Given the description of an element on the screen output the (x, y) to click on. 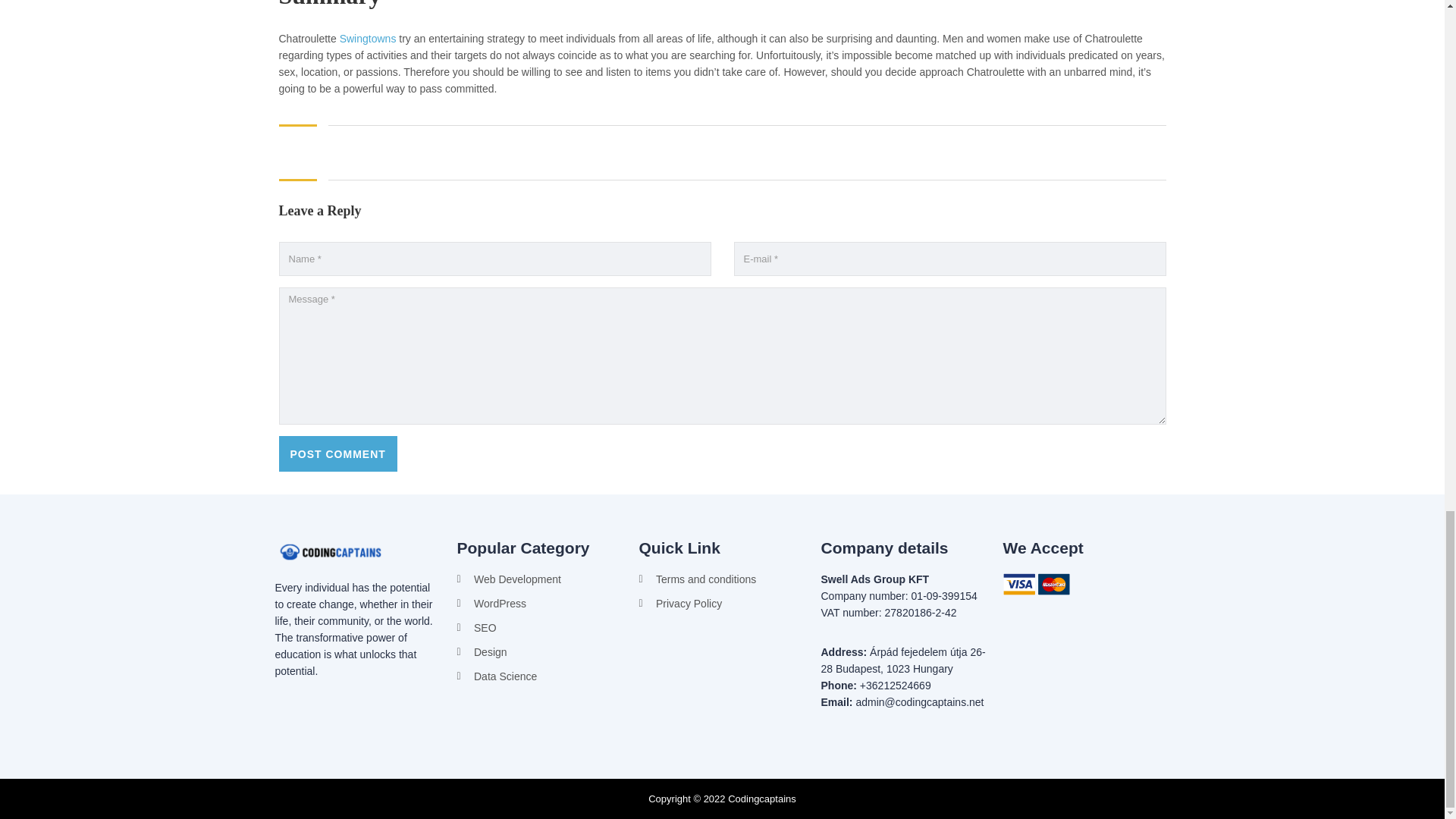
Web Development (540, 579)
Post Comment (338, 453)
Swingtowns (367, 38)
Design (540, 651)
Privacy Policy (722, 603)
Terms and conditions (722, 579)
WordPress (540, 603)
Post Comment (338, 453)
SEO (540, 627)
Data Science (540, 676)
